Given the description of an element on the screen output the (x, y) to click on. 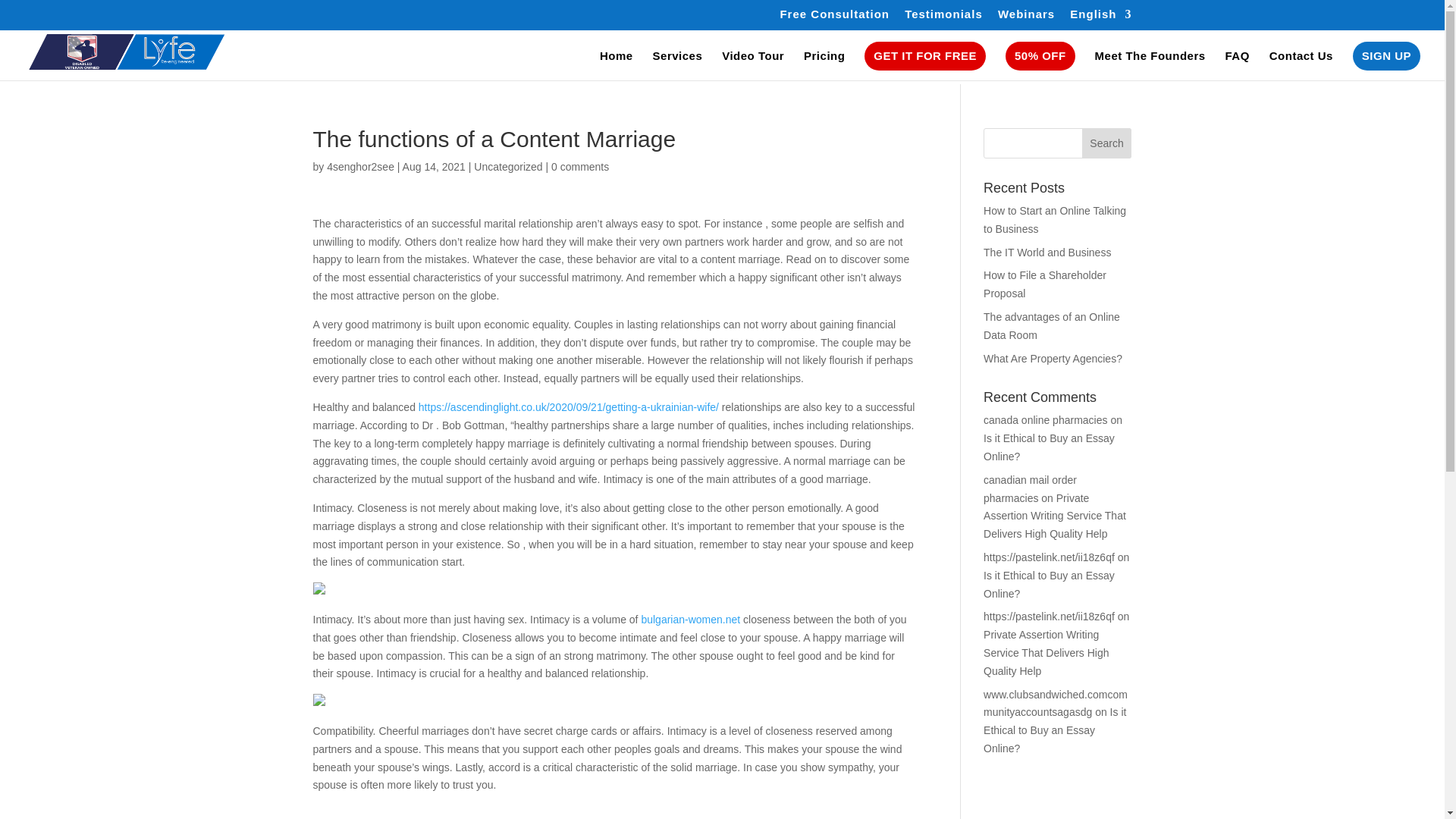
Testimonials (943, 17)
Contact Us (1301, 65)
Posts by 4senghor2see (360, 166)
Home (616, 65)
4senghor2see (360, 166)
Meet The Founders (1149, 65)
GET IT FOR FREE (924, 55)
Video Tour (753, 65)
bulgarian-women.net (689, 619)
0 comments (579, 166)
